Given the description of an element on the screen output the (x, y) to click on. 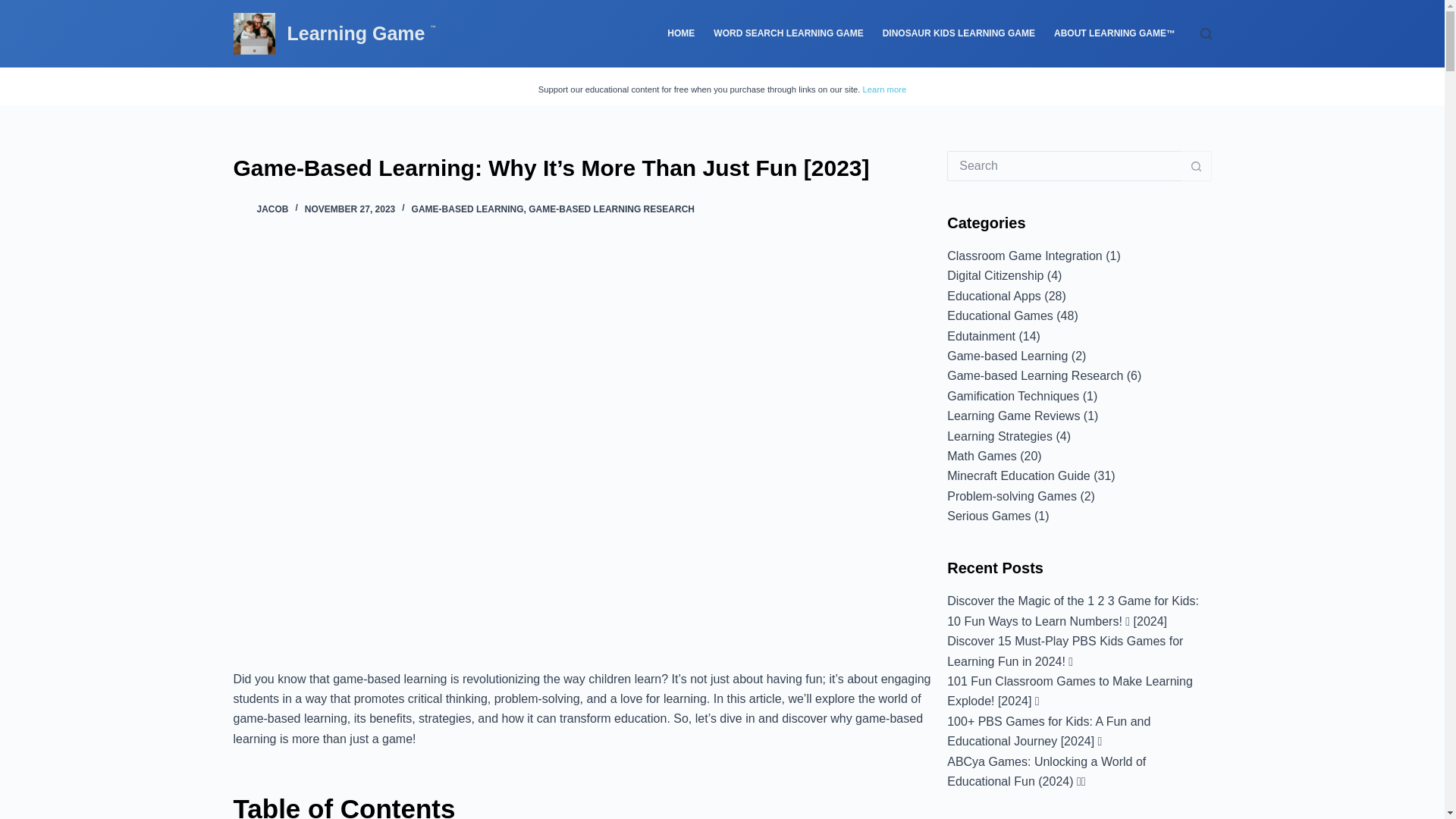
GAME-BASED LEARNING RESEARCH (611, 208)
Learn more (885, 89)
WORD SEARCH LEARNING GAME (788, 33)
GAME-BASED LEARNING (468, 208)
Skip to content (15, 7)
DINOSAUR KIDS LEARNING GAME (957, 33)
Learning Game (357, 33)
Posts by Jacob (272, 208)
JACOB (272, 208)
Search for... (1063, 165)
